Given the description of an element on the screen output the (x, y) to click on. 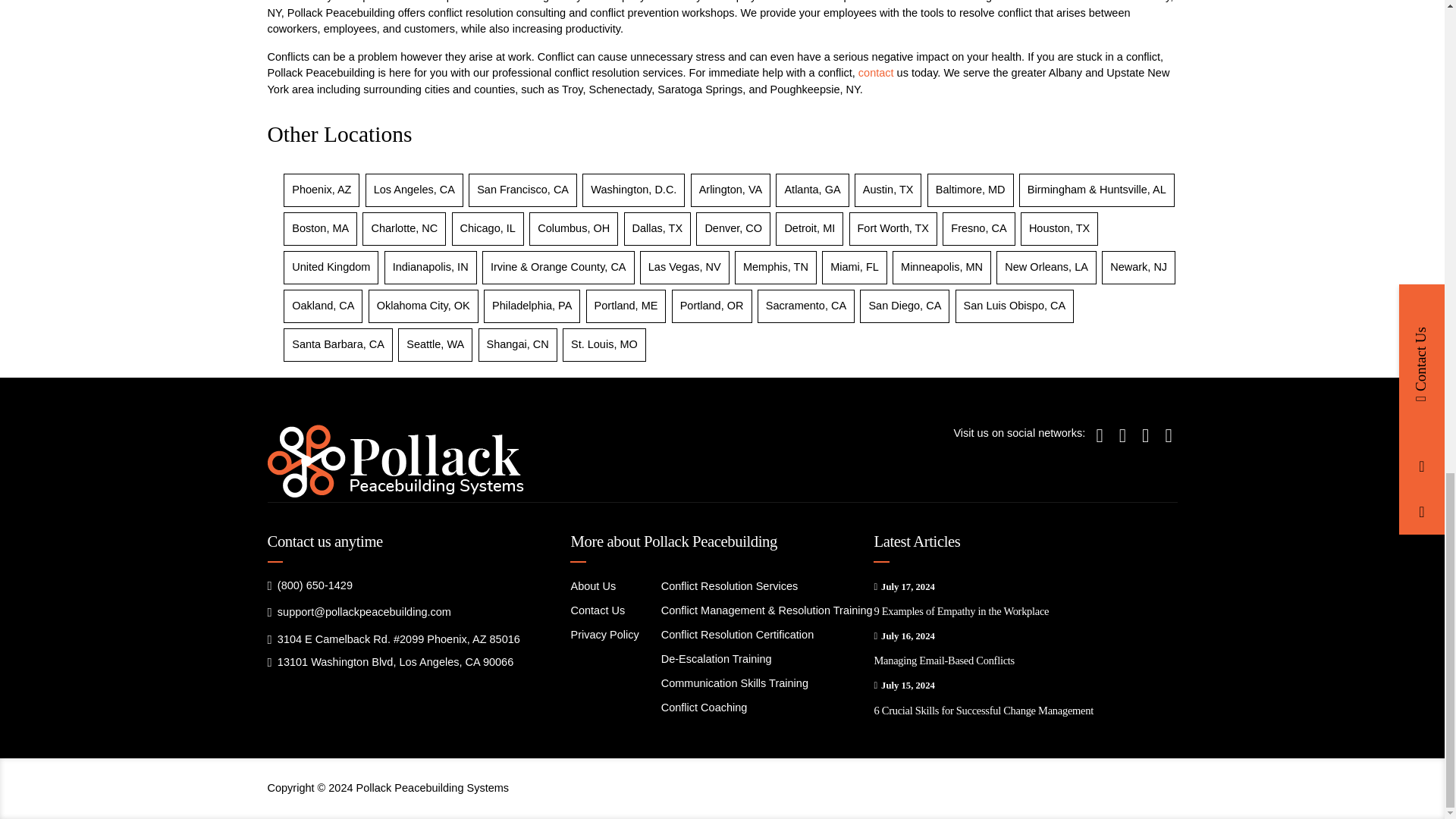
Phoenix, AZ (321, 189)
Los Angeles, CA (414, 189)
Baltimore, MD (971, 189)
Washington, D.C. (634, 189)
Austin, TX (888, 189)
Arlington, VA (730, 189)
San Francisco, CA (523, 189)
Atlanta, GA (812, 189)
